Given the description of an element on the screen output the (x, y) to click on. 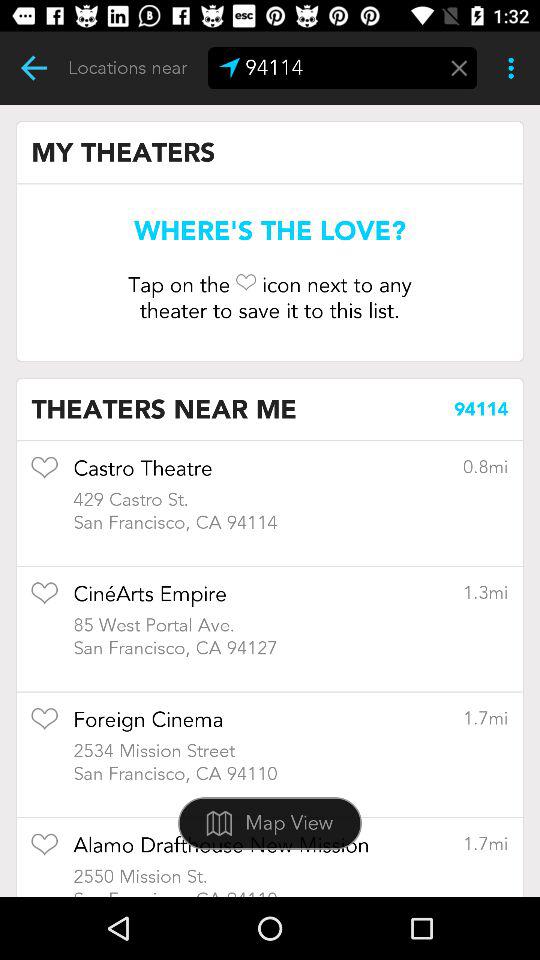
like item (44, 850)
